Given the description of an element on the screen output the (x, y) to click on. 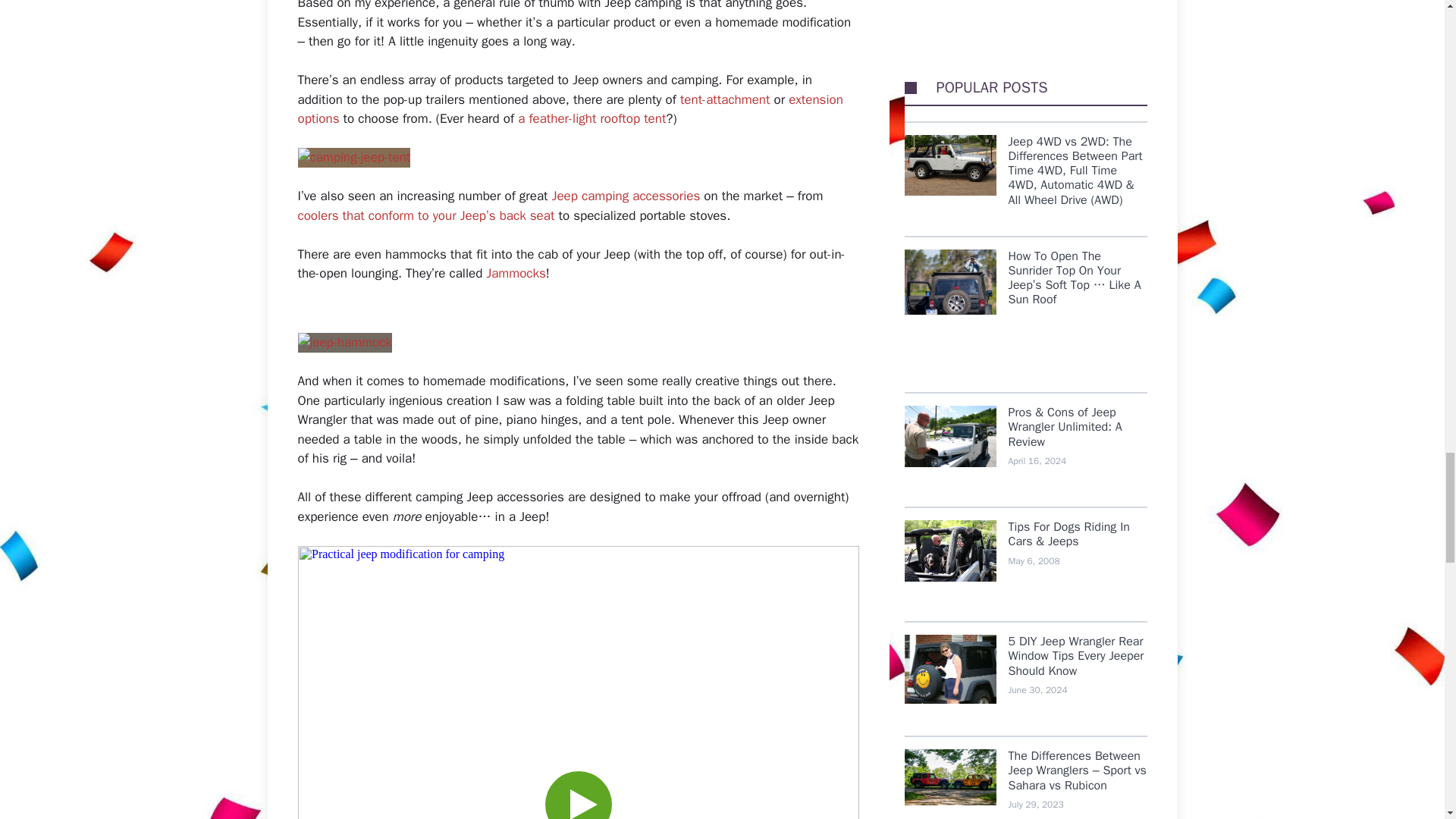
Jeep hammocks... Jammocks! (344, 342)
